Given the description of an element on the screen output the (x, y) to click on. 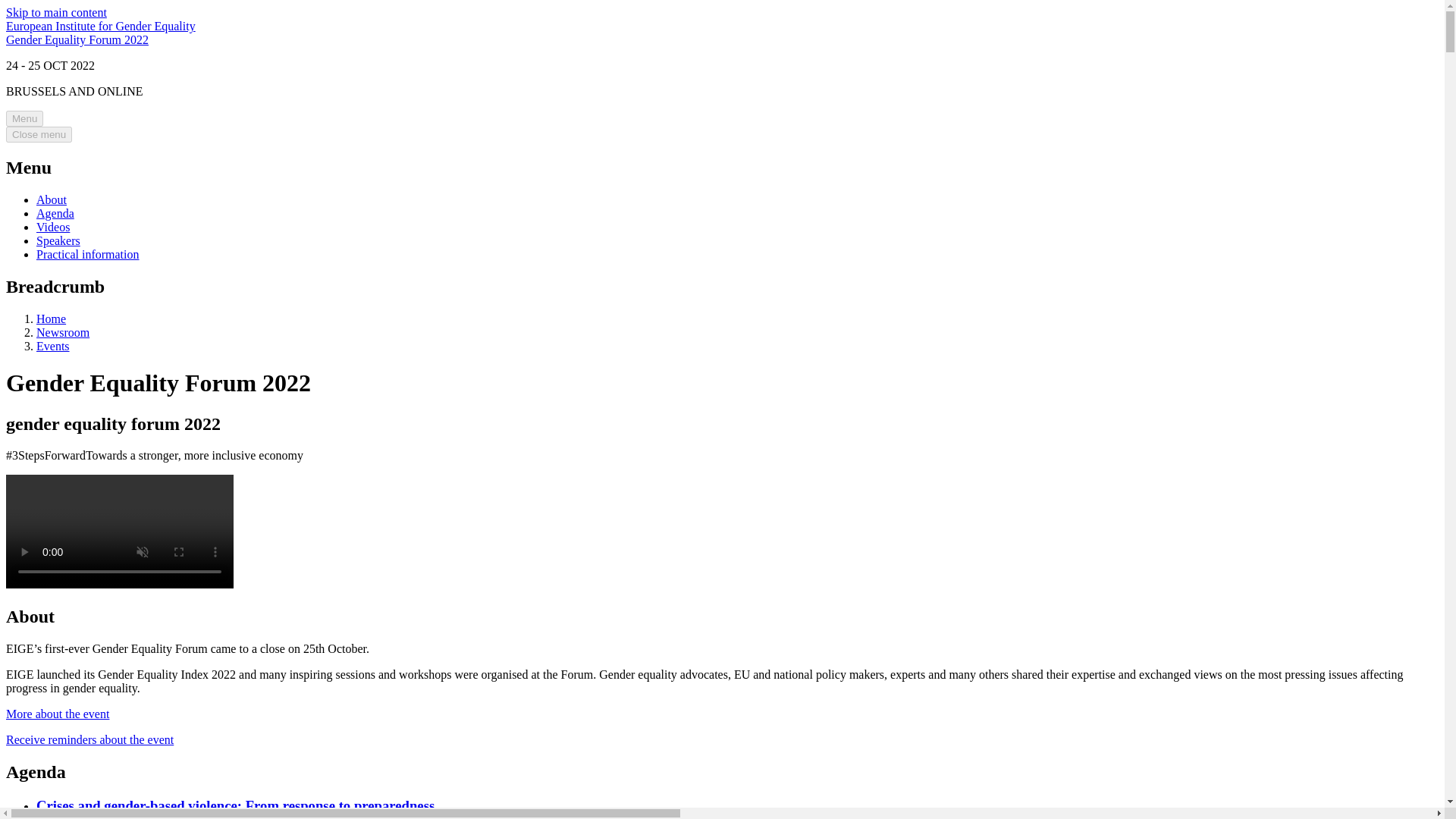
Speakers (58, 240)
Skip to main content (55, 11)
Practical information (87, 254)
European Institute for Gender Equality (100, 25)
Home (50, 318)
Receive reminders about the event (89, 739)
Events (52, 345)
Videos (52, 226)
Gender Equality Forum 2022 (76, 39)
About (51, 199)
Newsroom (62, 332)
More about the event (57, 713)
Close menu (38, 134)
Agenda (55, 213)
